Given the description of an element on the screen output the (x, y) to click on. 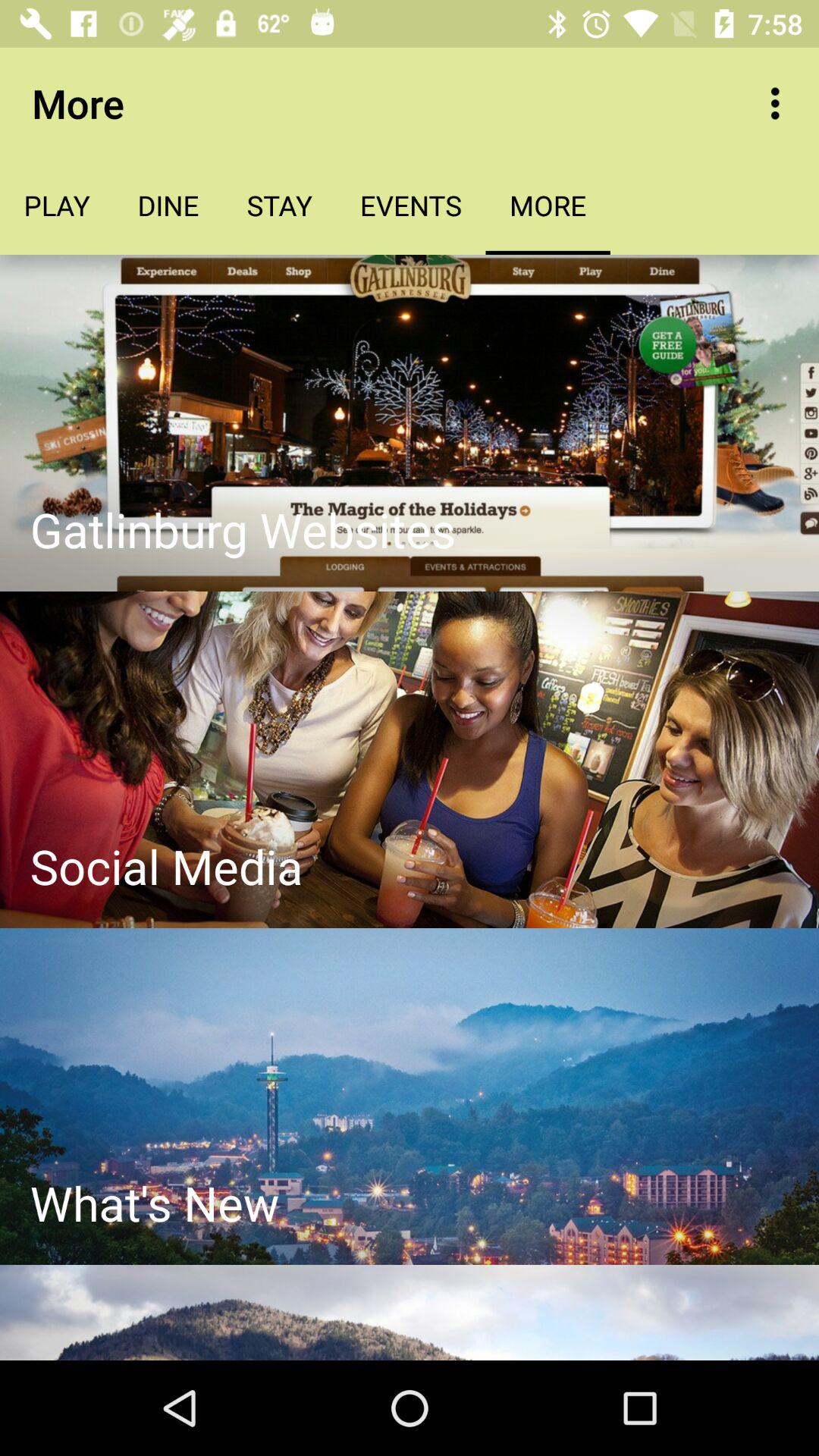
press the app to the right of more (779, 103)
